Given the description of an element on the screen output the (x, y) to click on. 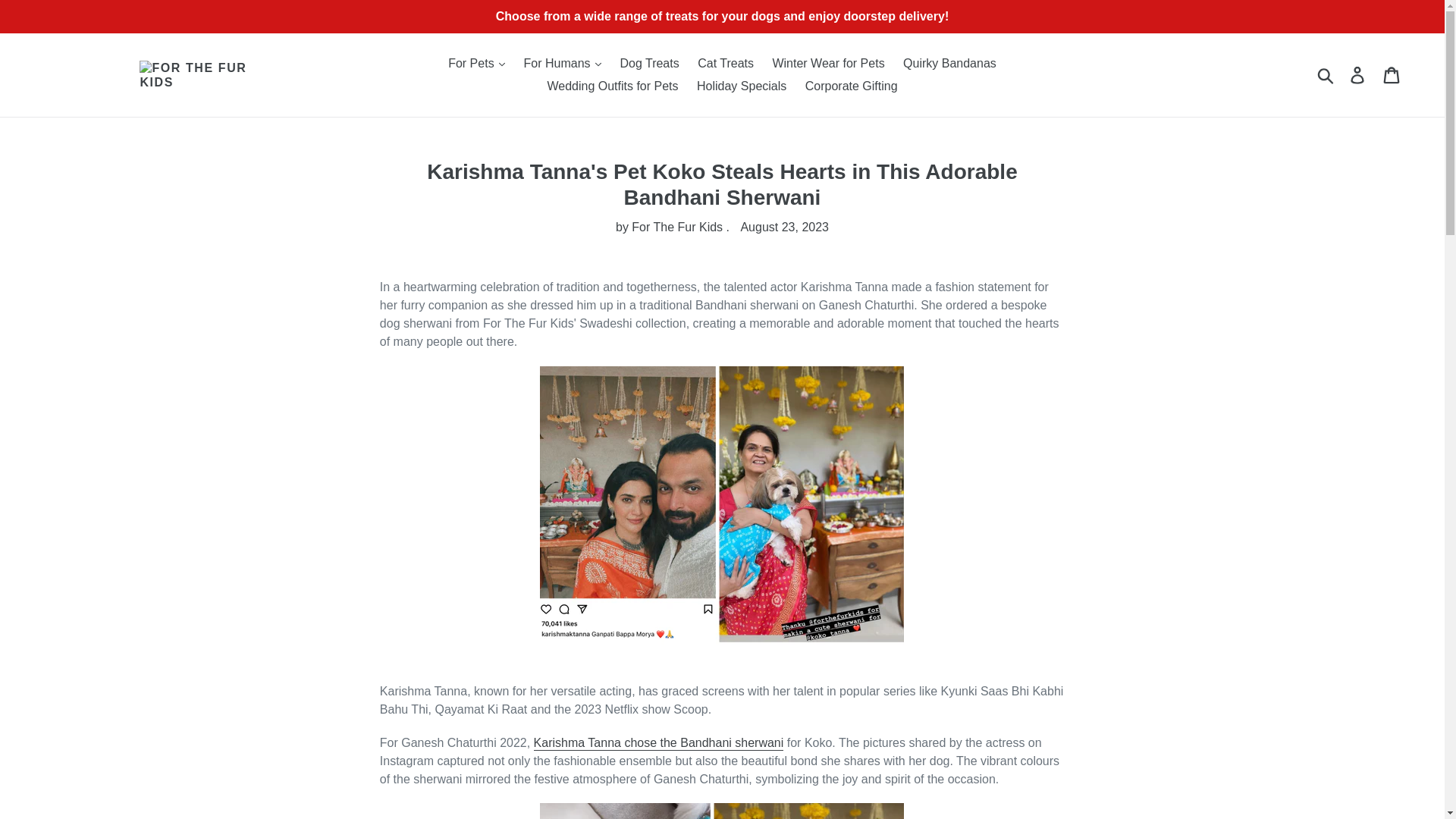
Winter Wear for Pets (827, 63)
Karishma Tanna's Koko wearing sherwani (659, 742)
Quirky Bandanas (949, 63)
Cat Treats (725, 63)
Cart (1392, 74)
Dog Treats (648, 63)
Wedding Outfits for Pets (611, 86)
Submit (1326, 74)
Holiday Specials (740, 86)
Log in (1357, 74)
